Given the description of an element on the screen output the (x, y) to click on. 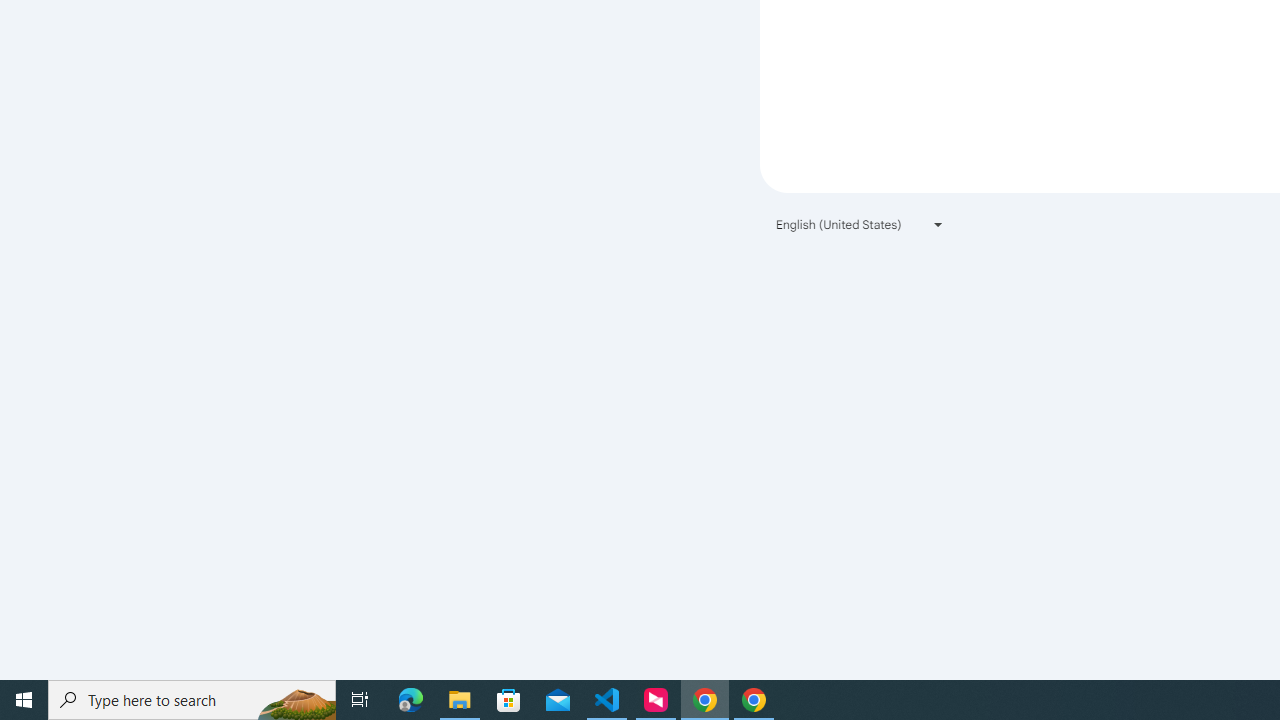
English (United States) (860, 224)
